Given the description of an element on the screen output the (x, y) to click on. 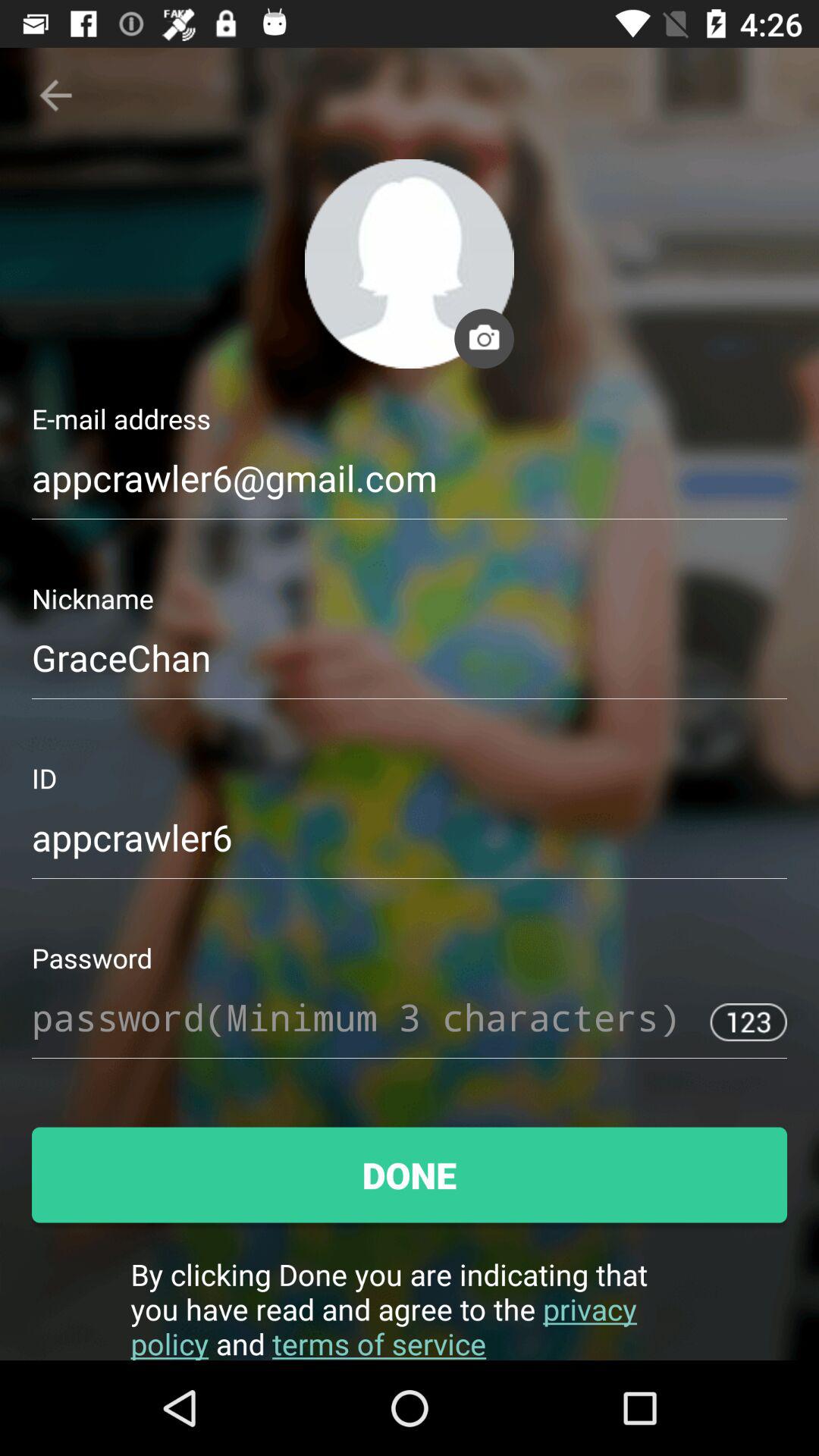
go to previous (55, 95)
